Given the description of an element on the screen output the (x, y) to click on. 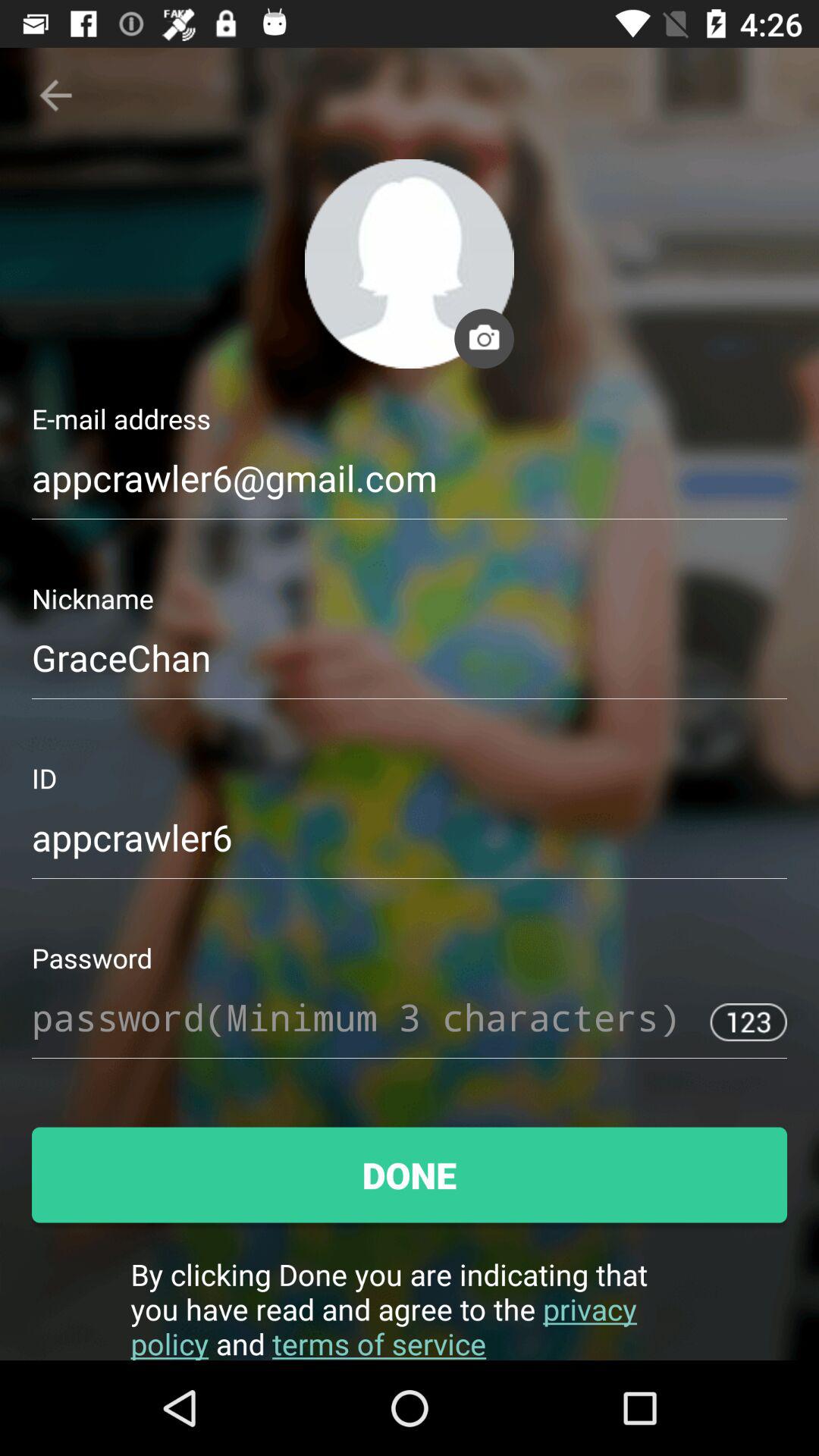
go to previous (55, 95)
